Given the description of an element on the screen output the (x, y) to click on. 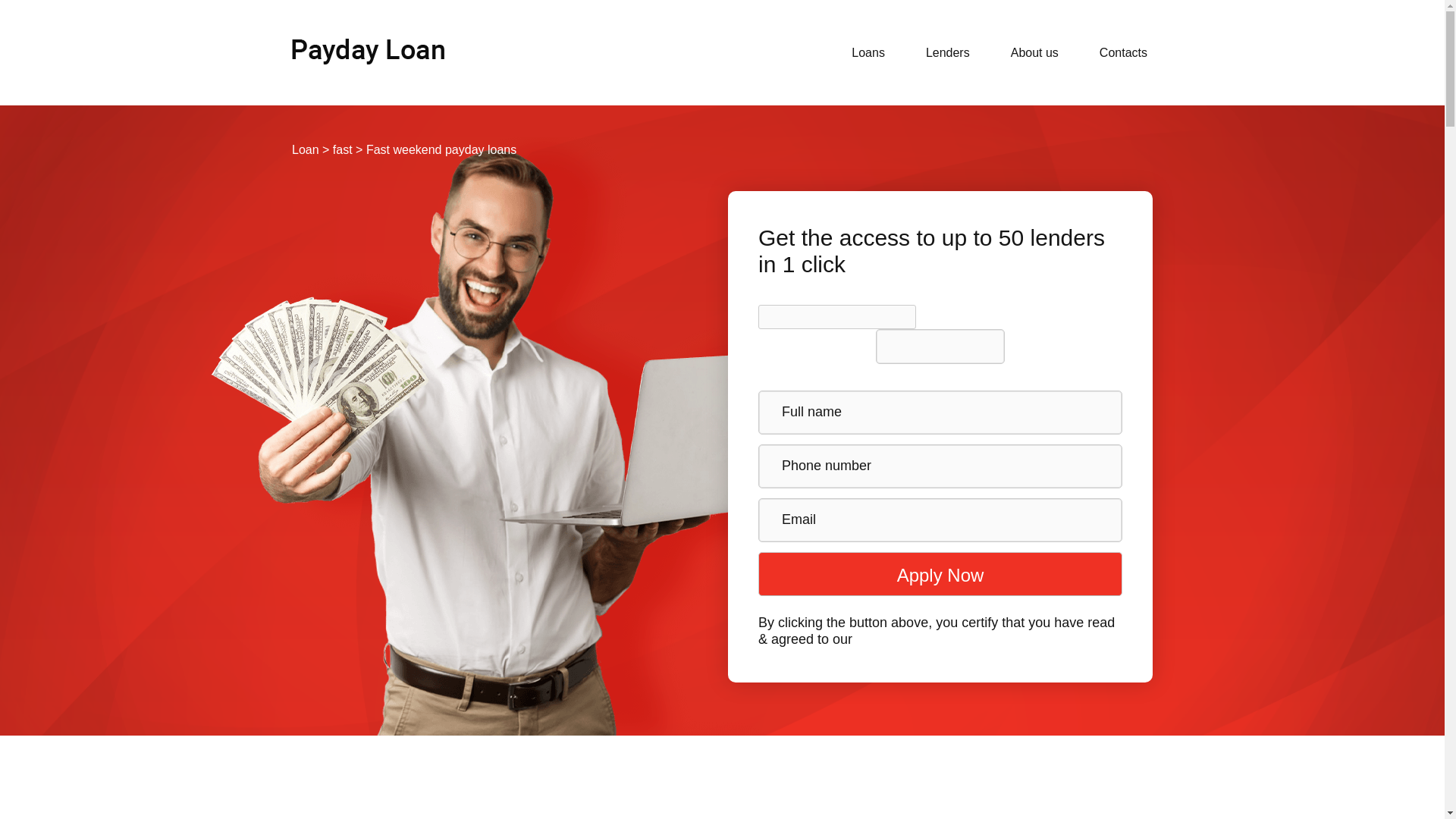
Contacts (1123, 52)
Loan (305, 149)
fast (342, 149)
Apply Now (940, 574)
About us (1035, 52)
Go to the fast category archives. (342, 149)
Go to Loan. (305, 149)
Apply Now (940, 574)
Loans (867, 52)
Lenders (947, 52)
